Given the description of an element on the screen output the (x, y) to click on. 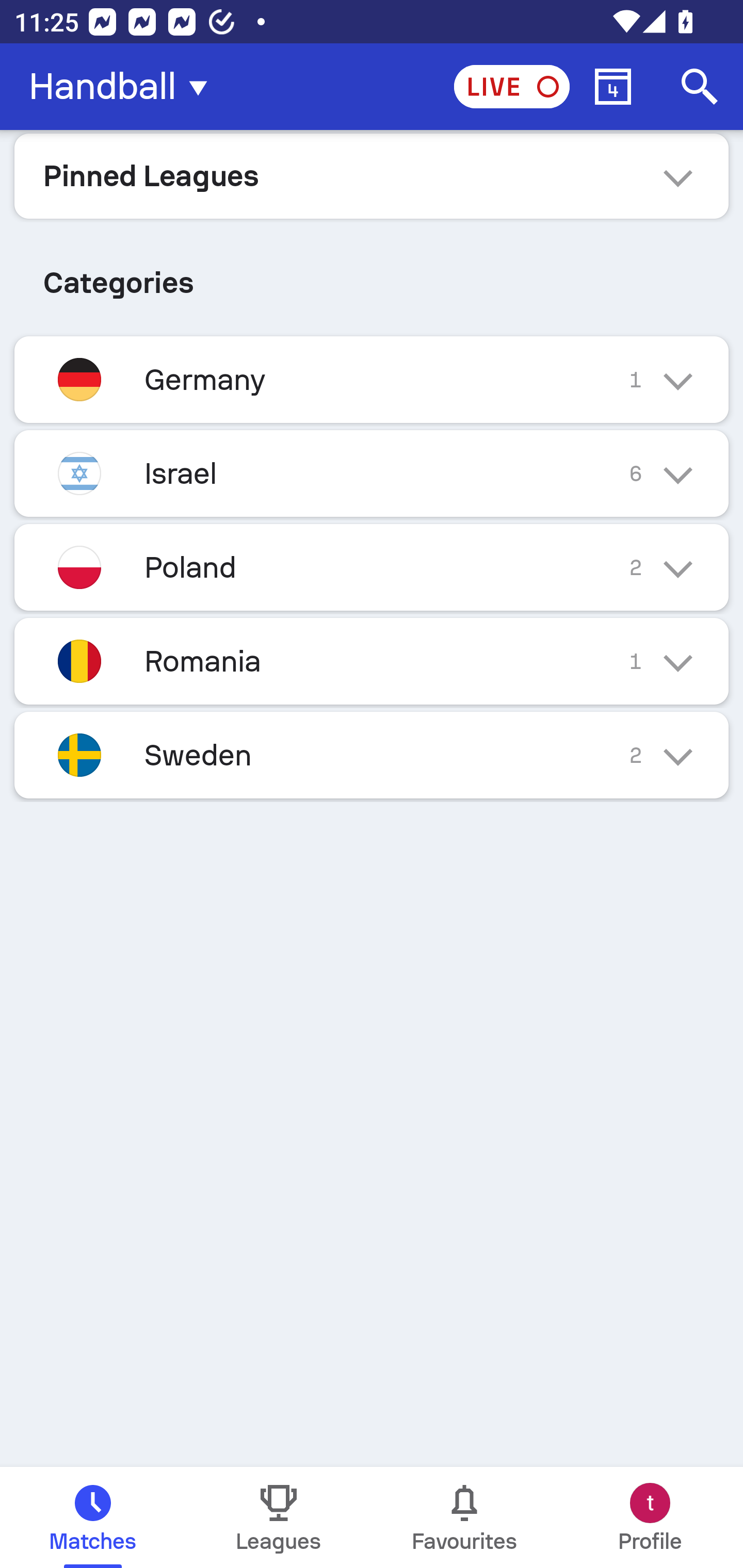
Handball (124, 86)
Calendar (612, 86)
Search (699, 86)
Pinned Leagues (371, 175)
Categories (371, 275)
Germany 1 (371, 379)
Israel 6 (371, 473)
Poland 2 (371, 566)
Romania 1 (371, 660)
Sweden 2 (371, 754)
Leagues (278, 1517)
Favourites (464, 1517)
Profile (650, 1517)
